Given the description of an element on the screen output the (x, y) to click on. 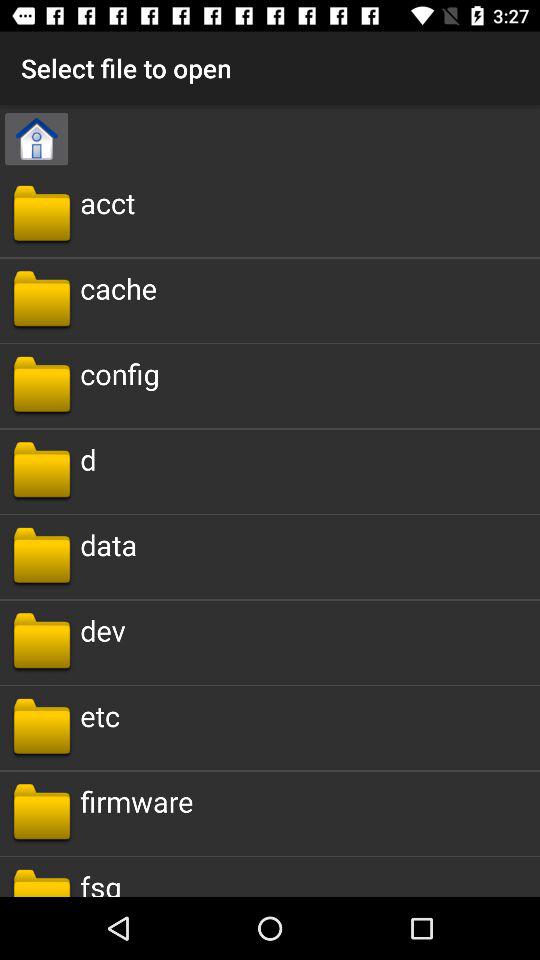
select the firmware (136, 800)
